Given the description of an element on the screen output the (x, y) to click on. 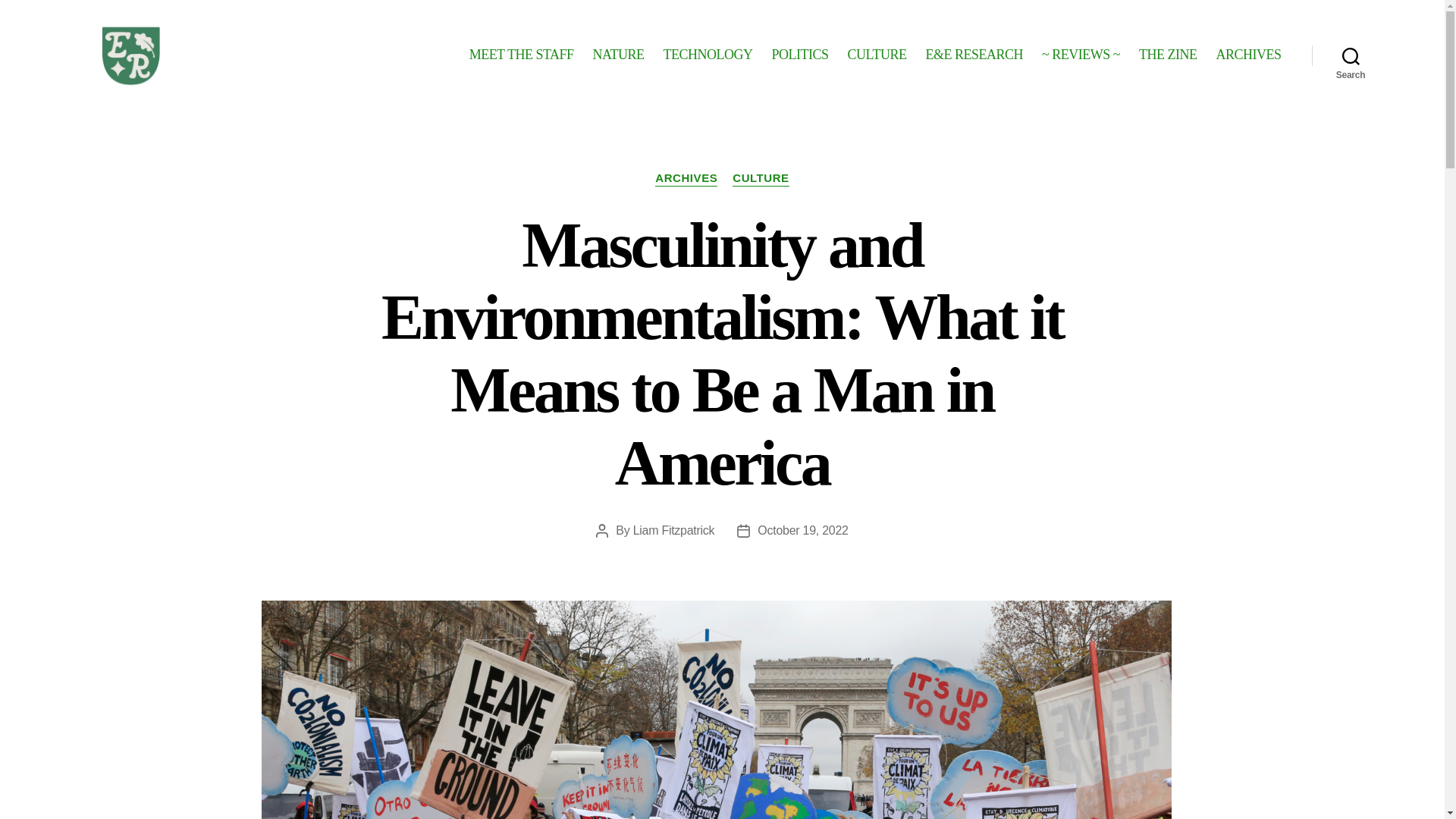
Search (1350, 55)
TECHNOLOGY (707, 54)
POLITICS (799, 54)
ARCHIVES (686, 178)
MEET THE STAFF (520, 54)
ARCHIVES (1248, 54)
NATURE (618, 54)
CULTURE (760, 178)
THE ZINE (1167, 54)
Liam Fitzpatrick (673, 530)
October 19, 2022 (802, 530)
CULTURE (877, 54)
